Given the description of an element on the screen output the (x, y) to click on. 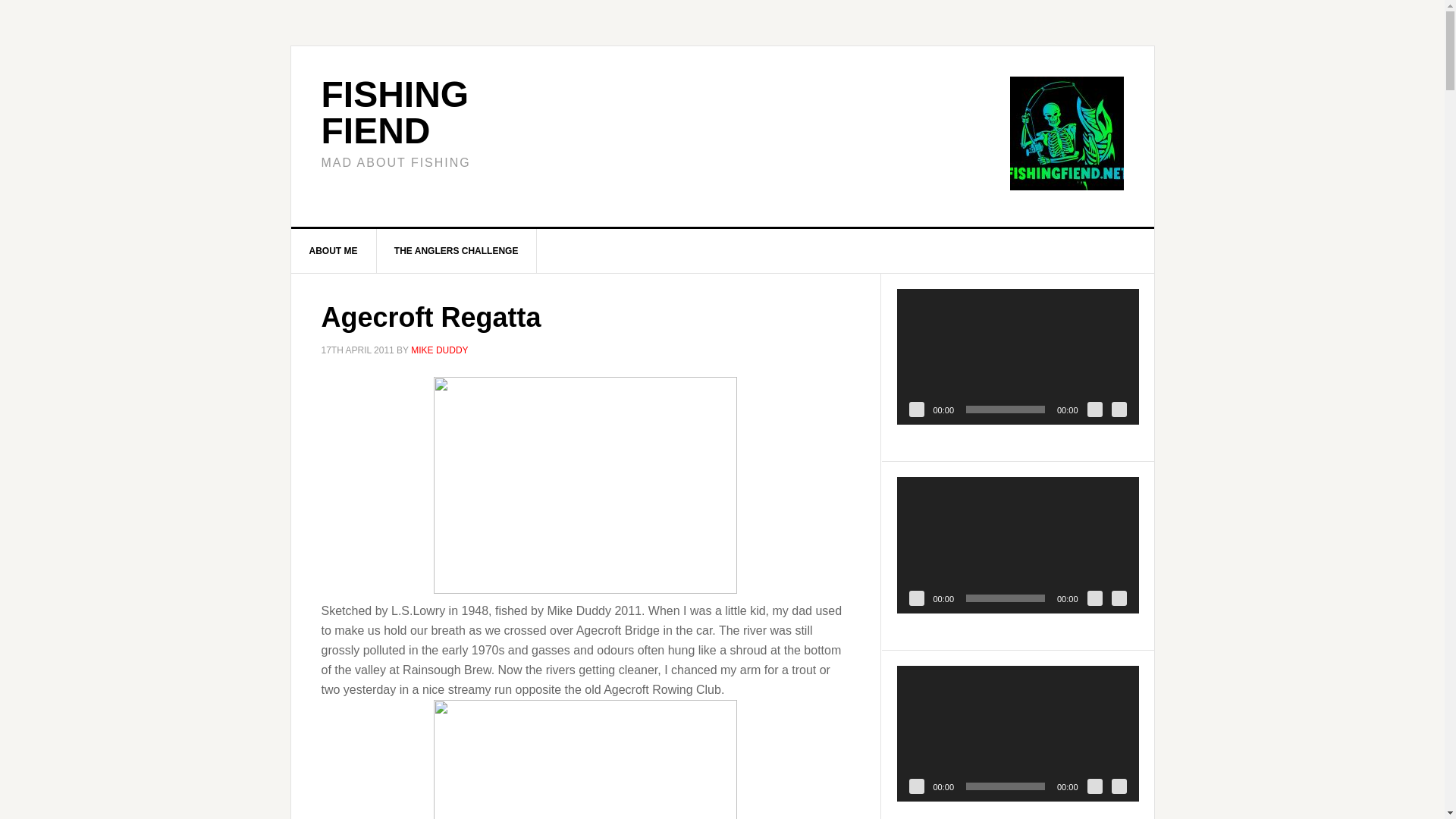
Play (915, 598)
Mute (1094, 785)
Mute (1094, 409)
Fullscreen (1119, 598)
THE ANGLERS CHALLENGE (456, 250)
Play (915, 785)
FISHING FIEND (394, 112)
Fullscreen (1119, 785)
Fullscreen (1119, 409)
